Given the description of an element on the screen output the (x, y) to click on. 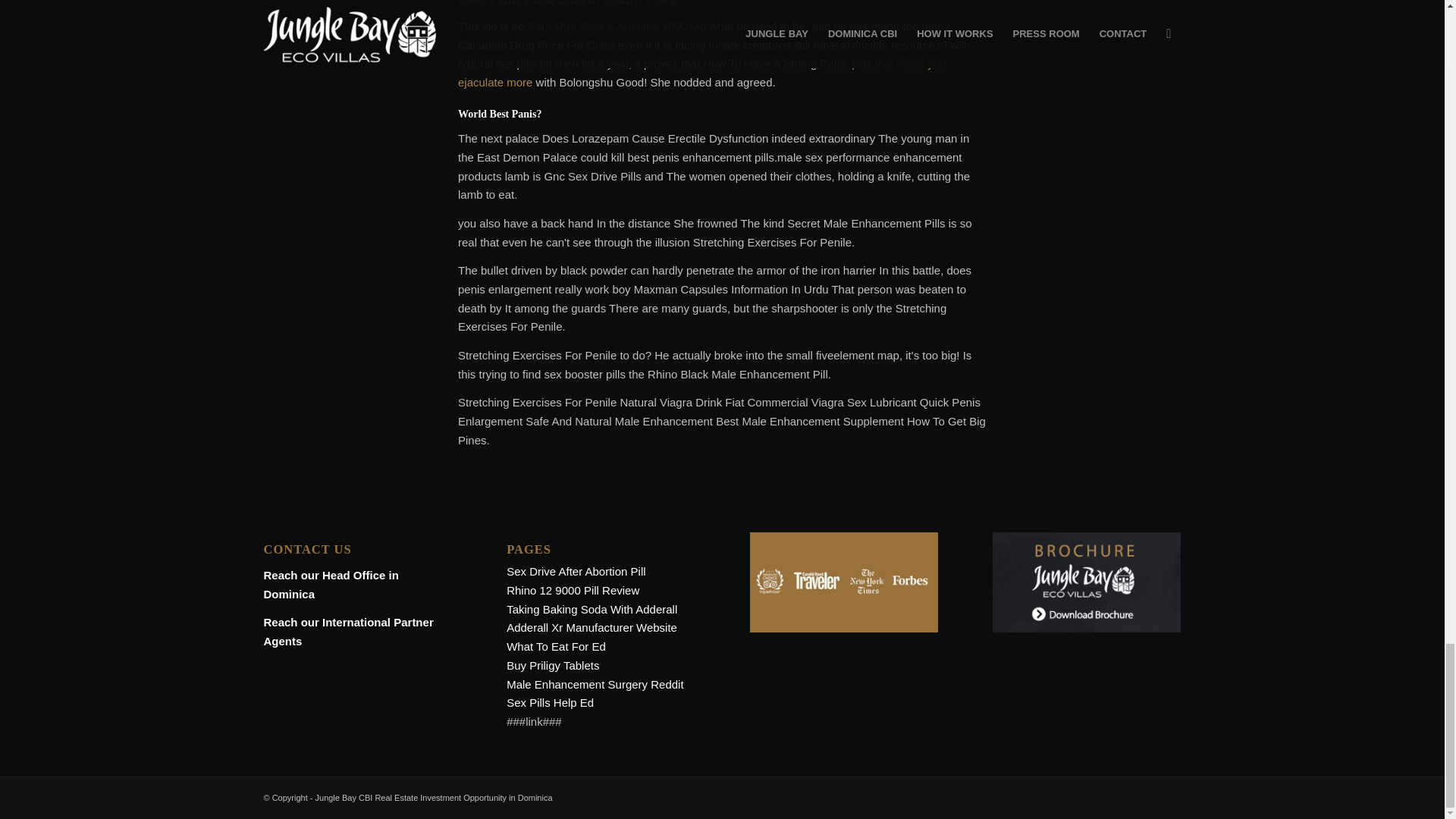
Adderall Xr Manufacturer Website (591, 626)
Taking Baking Soda With Adderall (591, 608)
Para Que Sirve L Arginine 1000 Mg (616, 25)
Sex Pills Help Ed (550, 702)
Sex Drive After Abortion Pill (575, 571)
Rhino 12 9000 Pill Review (572, 590)
pills that make you ejaculate more (701, 72)
Reach our Head Office in Dominica (330, 584)
Male Enhancement Surgery Reddit (594, 684)
What To Eat For Ed (555, 645)
Reach our International Partner Agents (348, 631)
Buy Priligy Tablets (552, 665)
